Given the description of an element on the screen output the (x, y) to click on. 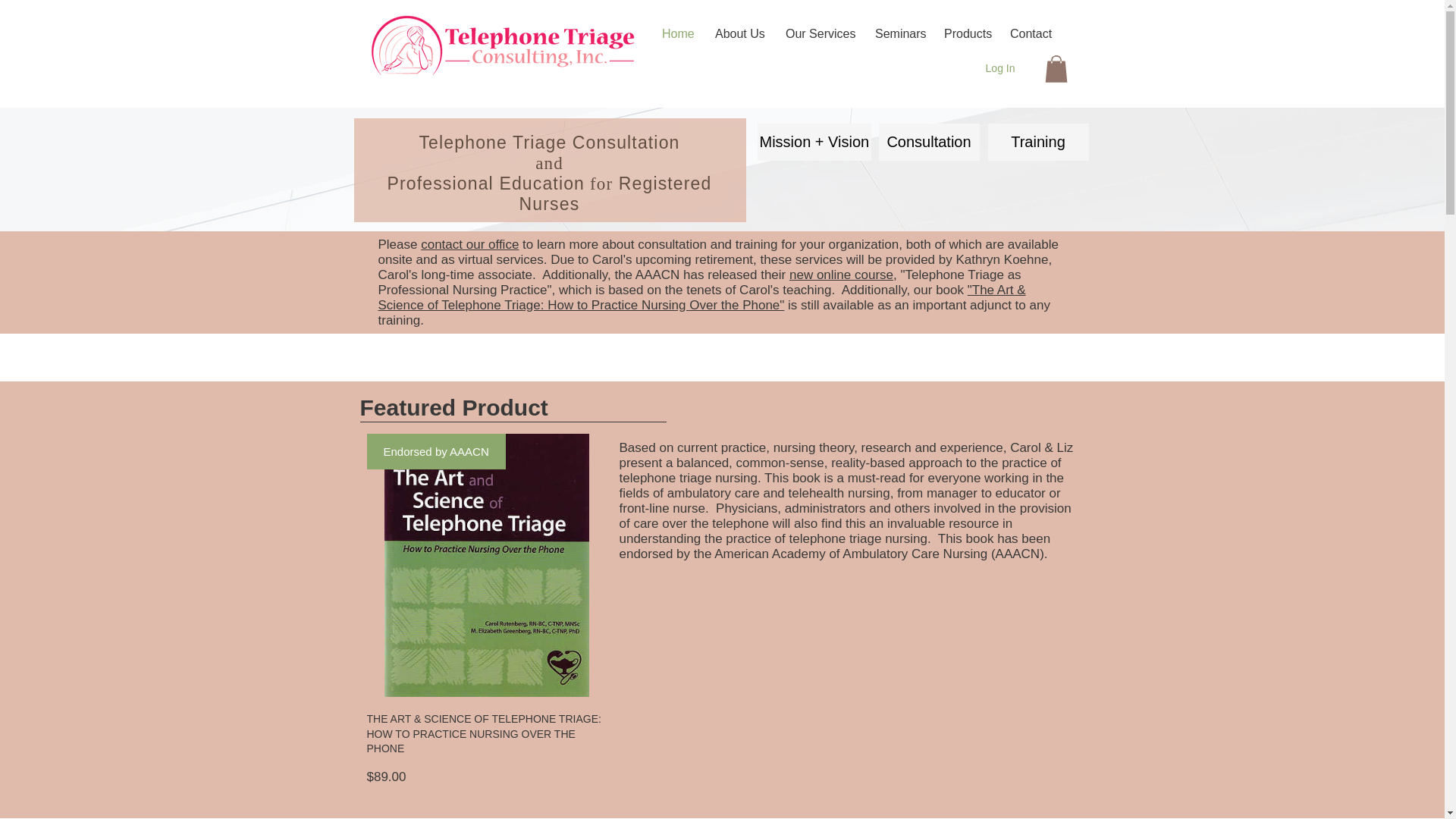
Seminars (898, 33)
Training (1037, 141)
Home (676, 33)
Our Services (818, 33)
Log In (906, 86)
Contact (1029, 33)
Consultation (927, 141)
Log In (1000, 68)
About Us (738, 33)
contact our office (469, 244)
new online course (841, 274)
